Given the description of an element on the screen output the (x, y) to click on. 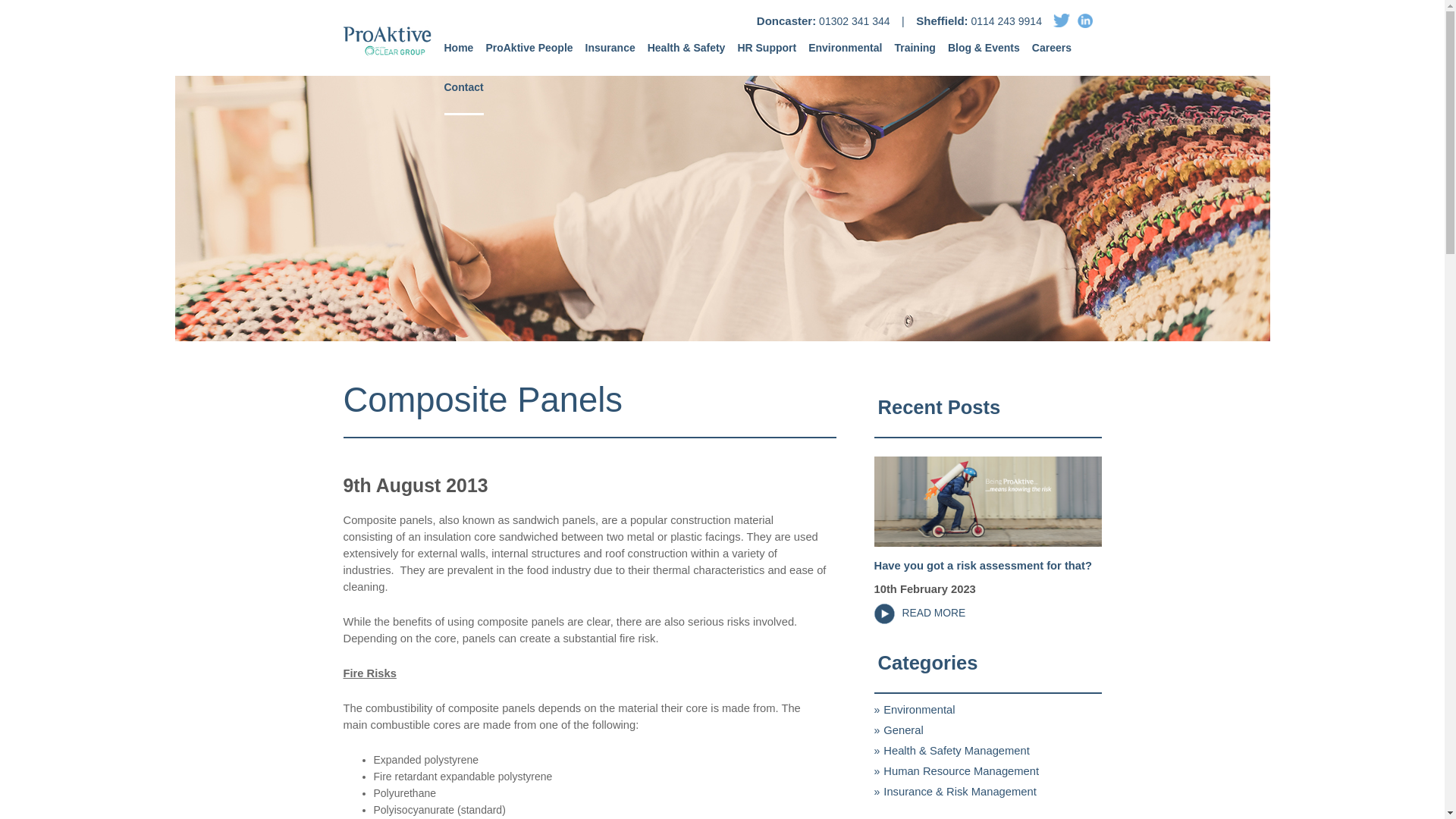
ProAktive (386, 44)
ProAktive People (528, 54)
Contact (463, 94)
Environmental (845, 54)
Training (913, 54)
Have you got a risk assessment for that? (981, 565)
HR Support (766, 54)
Insurance (609, 54)
Careers (1051, 54)
